Given the description of an element on the screen output the (x, y) to click on. 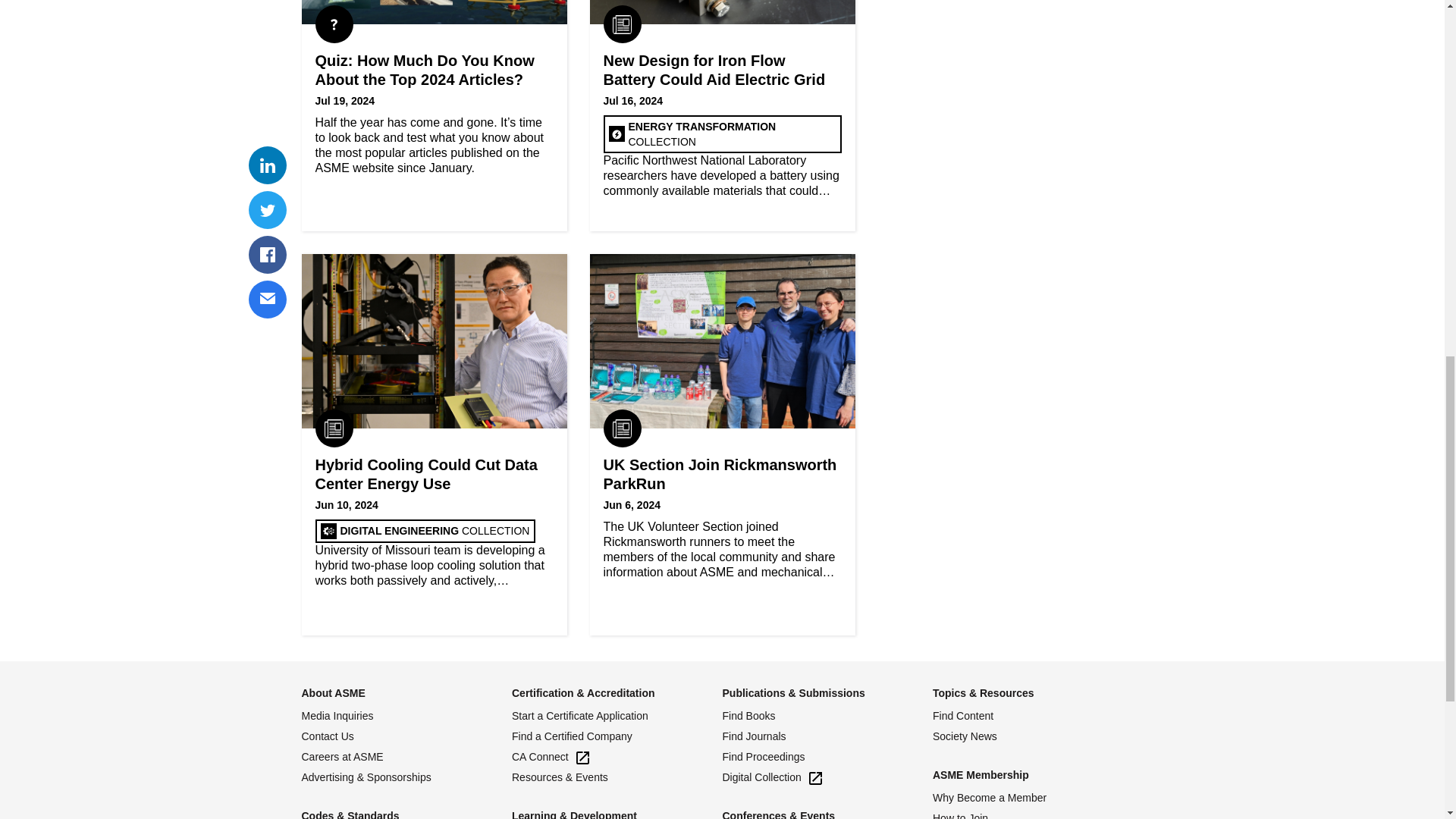
About ASME (333, 693)
Media Inquiries (406, 716)
